Given the description of an element on the screen output the (x, y) to click on. 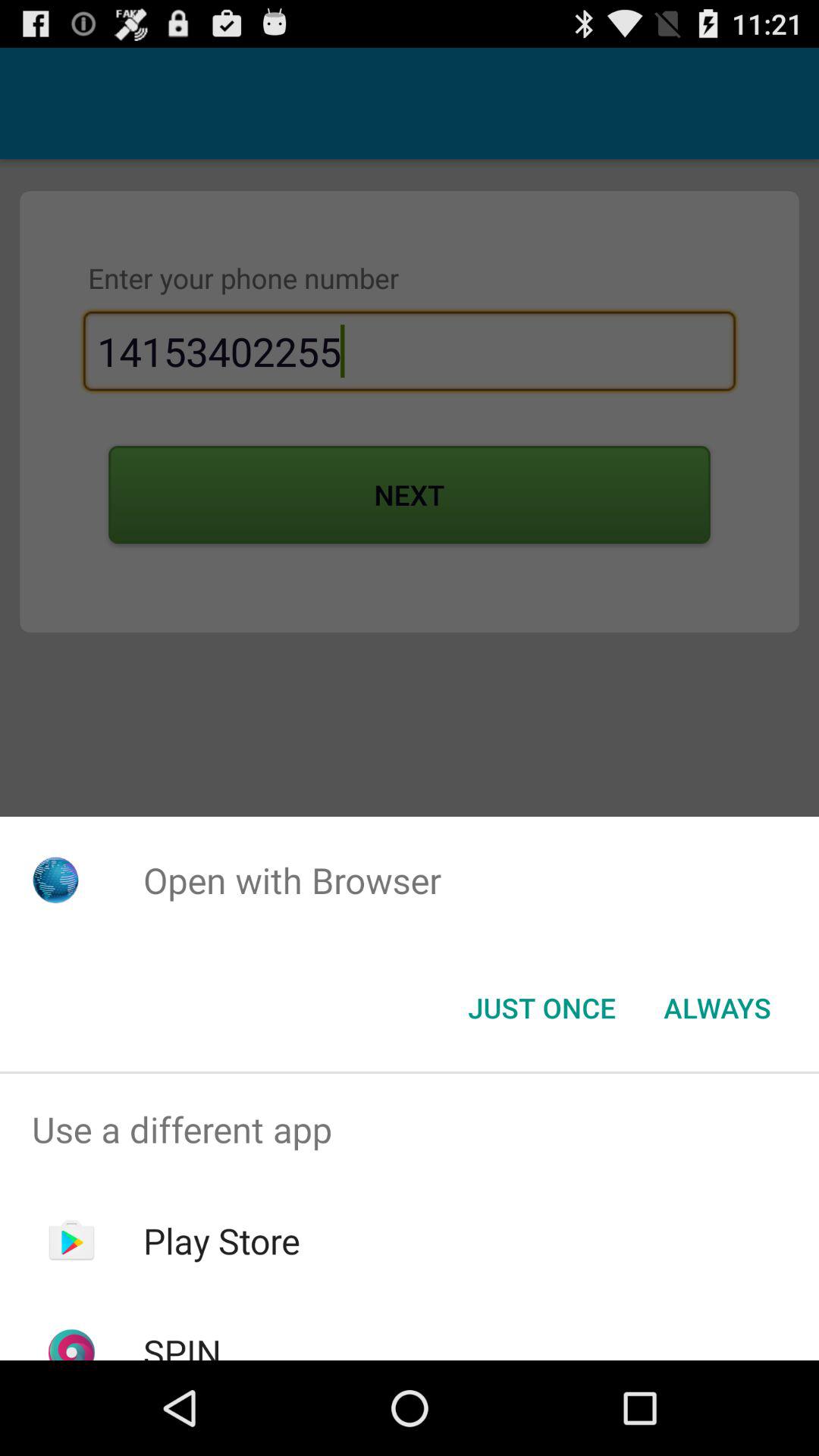
open the app below the open with browser (717, 1007)
